Given the description of an element on the screen output the (x, y) to click on. 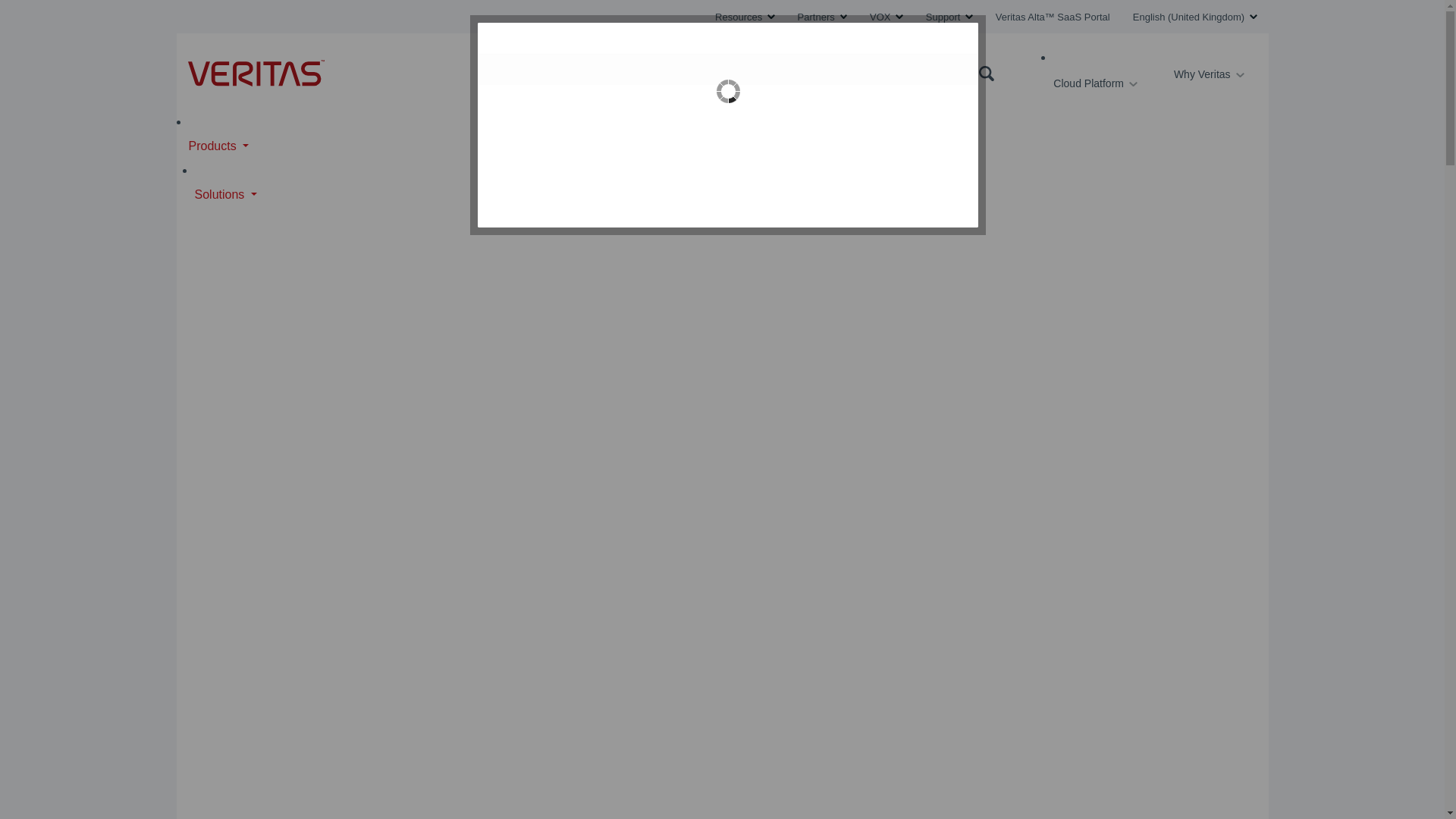
VOX (885, 16)
Resources (744, 16)
Support (949, 16)
TrustArc Cookie Consent Manager (727, 124)
Partners (822, 16)
